Given the description of an element on the screen output the (x, y) to click on. 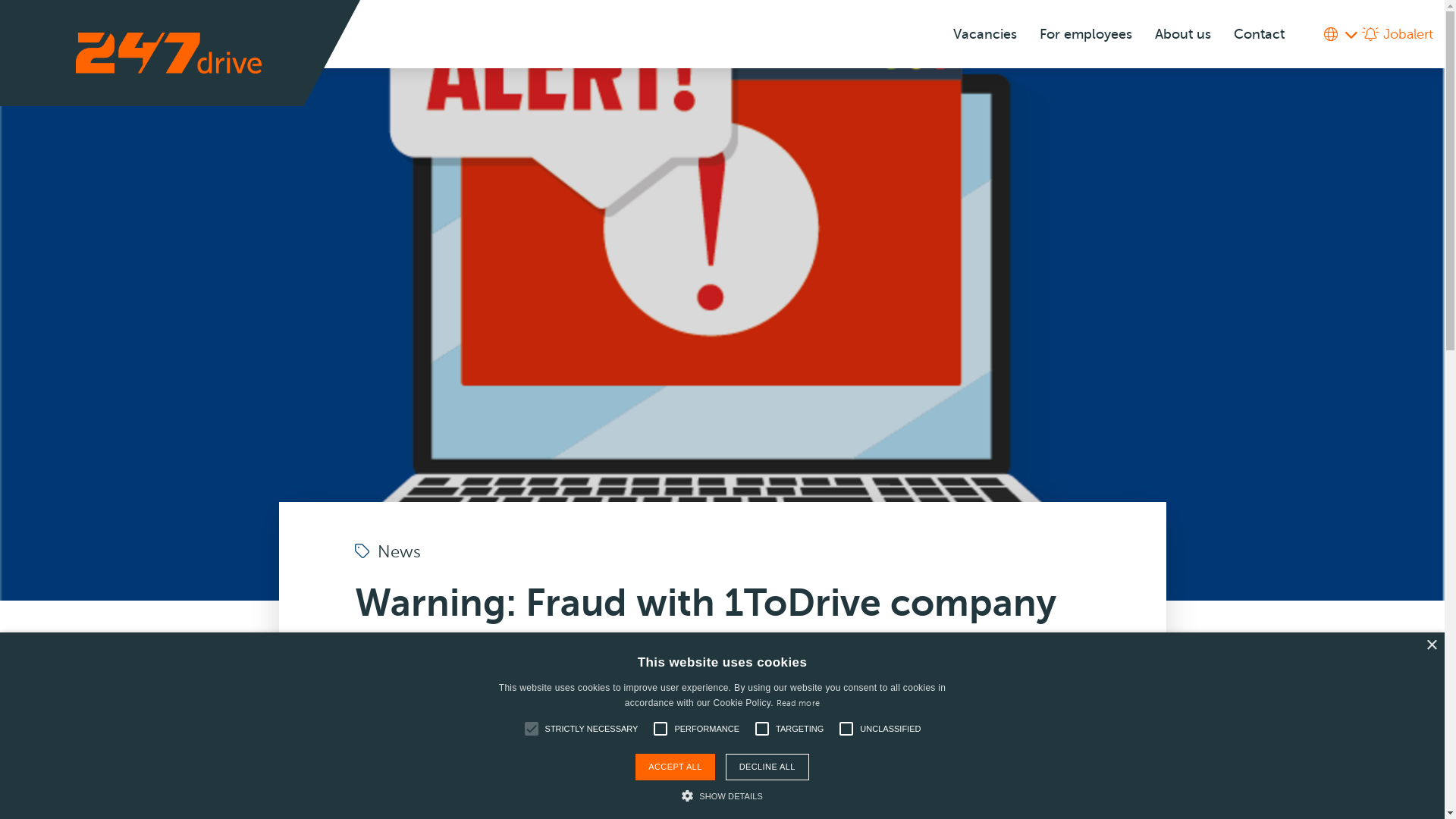
Back to overview Element type: text (546, 703)
24/7 drive Element type: hover (168, 52)
Contact Element type: text (1258, 34)
Read more Element type: text (798, 703)
Jobalert Element type: text (1397, 33)
For employees Element type: text (1085, 34)
  Element type: text (1340, 33)
Vacancies Element type: text (984, 34)
Share Element type: text (668, 704)
News Element type: text (387, 551)
About us Element type: text (1182, 34)
